Given the description of an element on the screen output the (x, y) to click on. 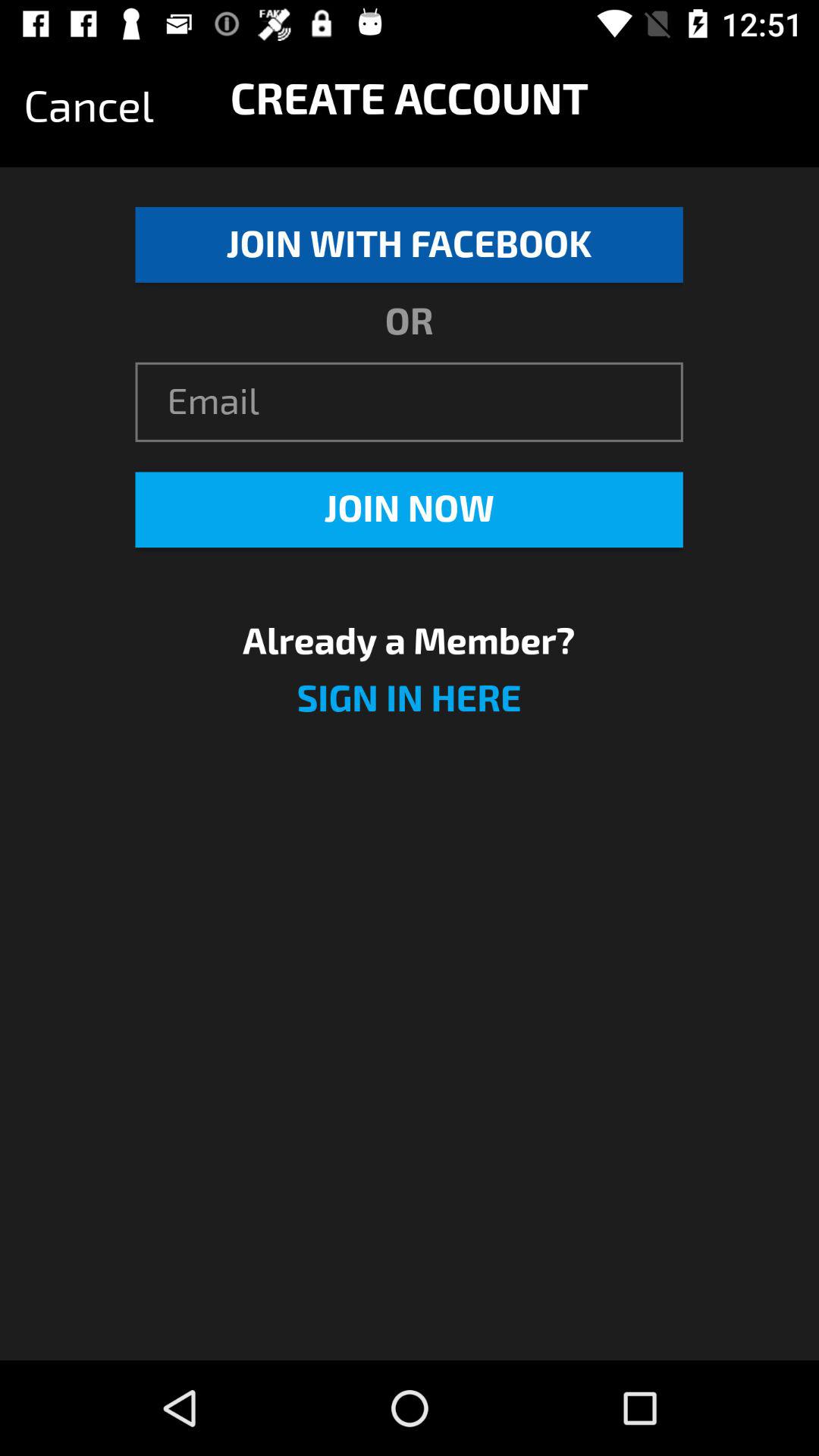
press icon below the cancel icon (409, 244)
